Given the description of an element on the screen output the (x, y) to click on. 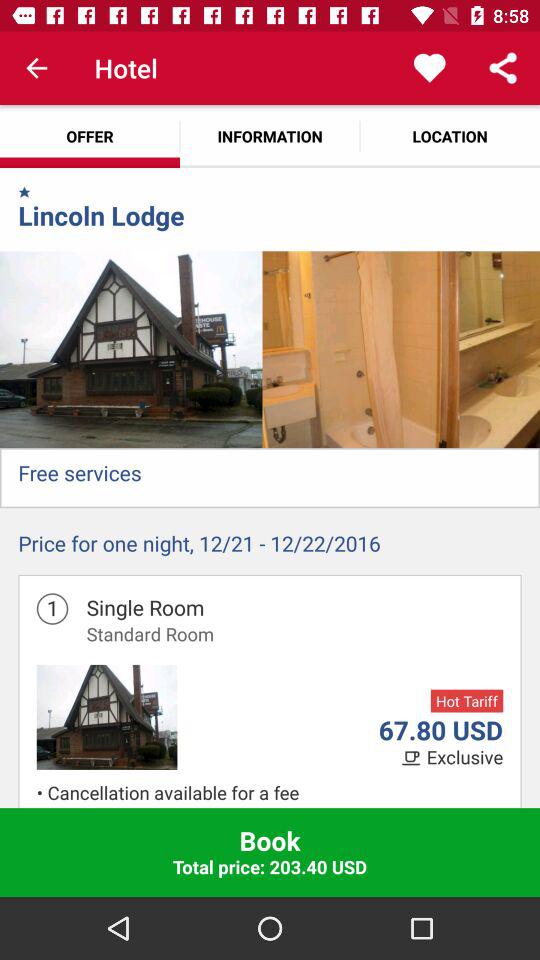
click app to the left of the hotel (36, 68)
